Given the description of an element on the screen output the (x, y) to click on. 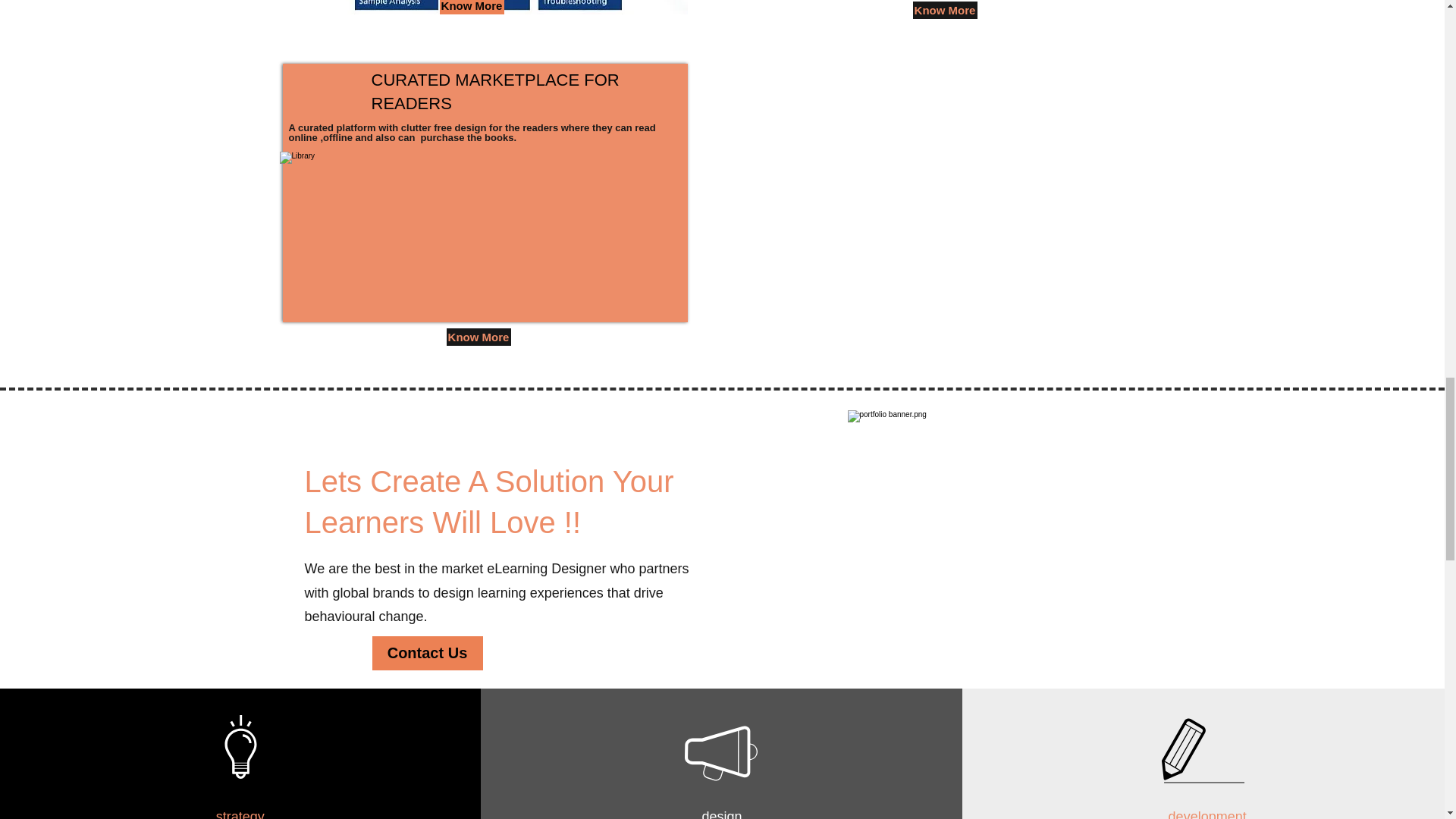
Know More (944, 9)
Know More (478, 336)
Know More (471, 7)
Contact Us (426, 653)
